Given the description of an element on the screen output the (x, y) to click on. 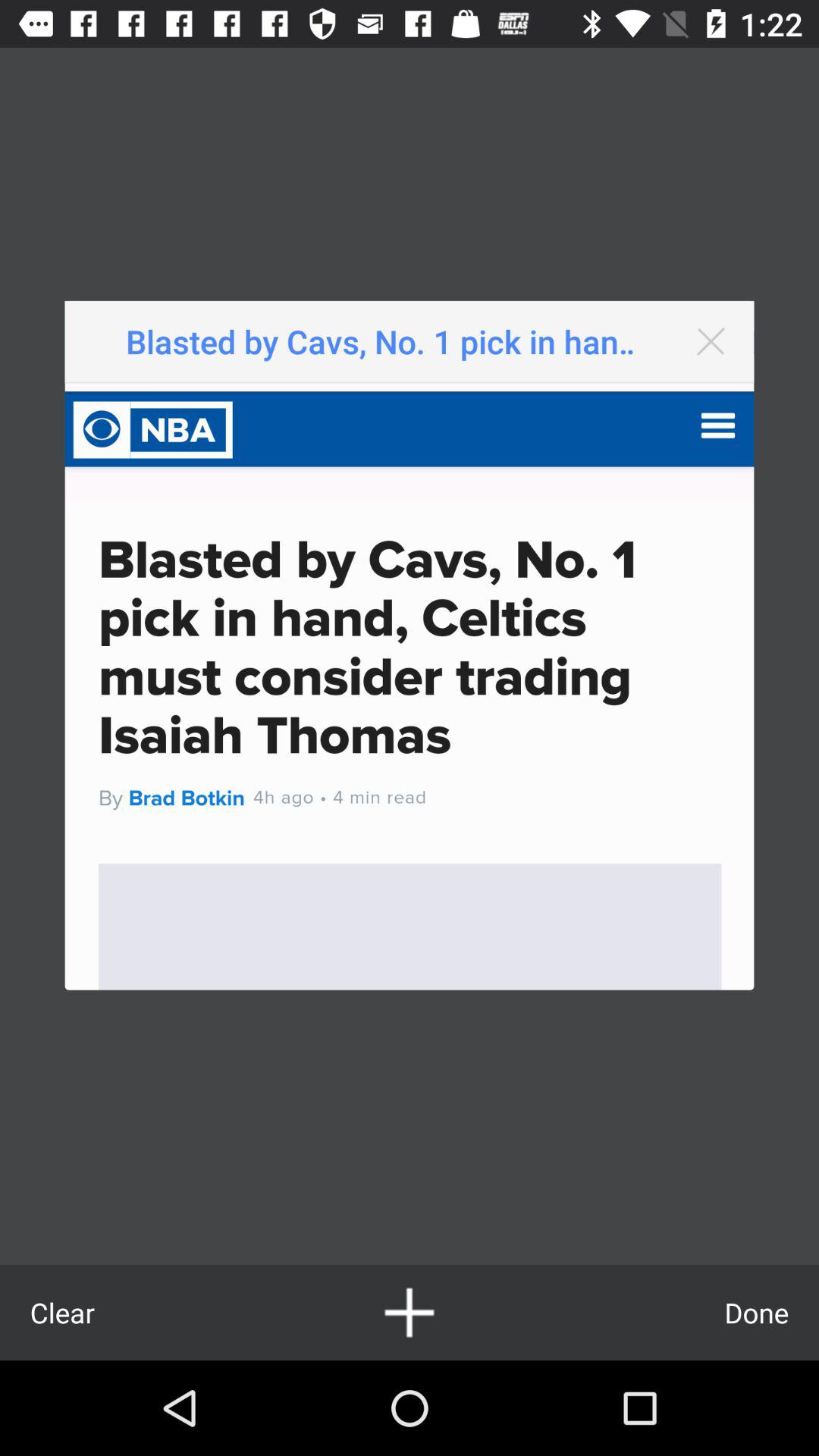
press icon at the bottom (409, 1312)
